Given the description of an element on the screen output the (x, y) to click on. 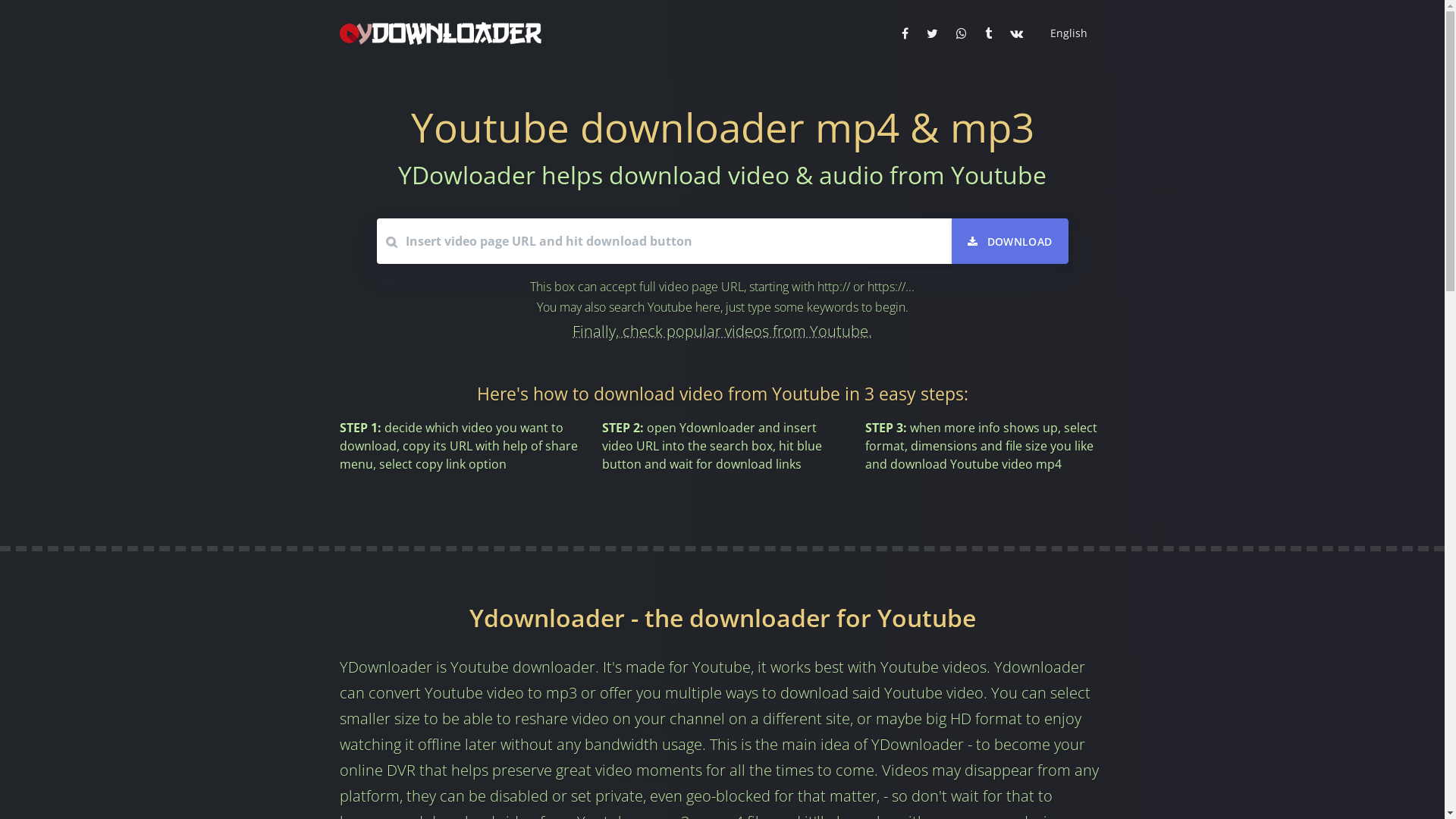
Share on VK Element type: hover (1016, 33)
Share on Twitter Element type: hover (932, 33)
English Element type: text (1066, 32)
Share on Facebook Element type: hover (903, 33)
Share on Tumblr Element type: hover (987, 33)
DOWNLOAD Element type: text (1009, 240)
Share on Whatsapp Element type: hover (960, 33)
